Given the description of an element on the screen output the (x, y) to click on. 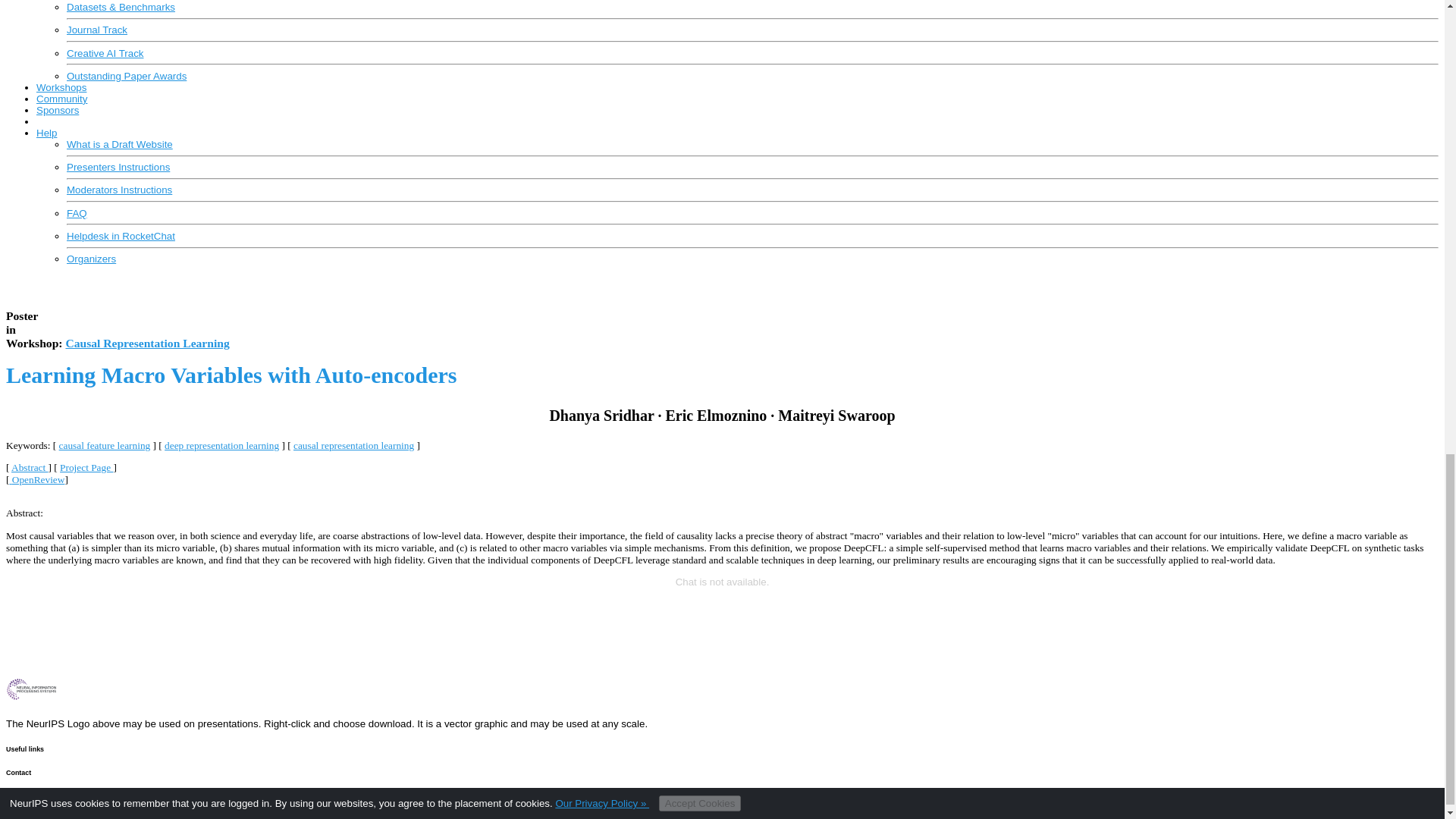
OpenReview (36, 479)
